Given the description of an element on the screen output the (x, y) to click on. 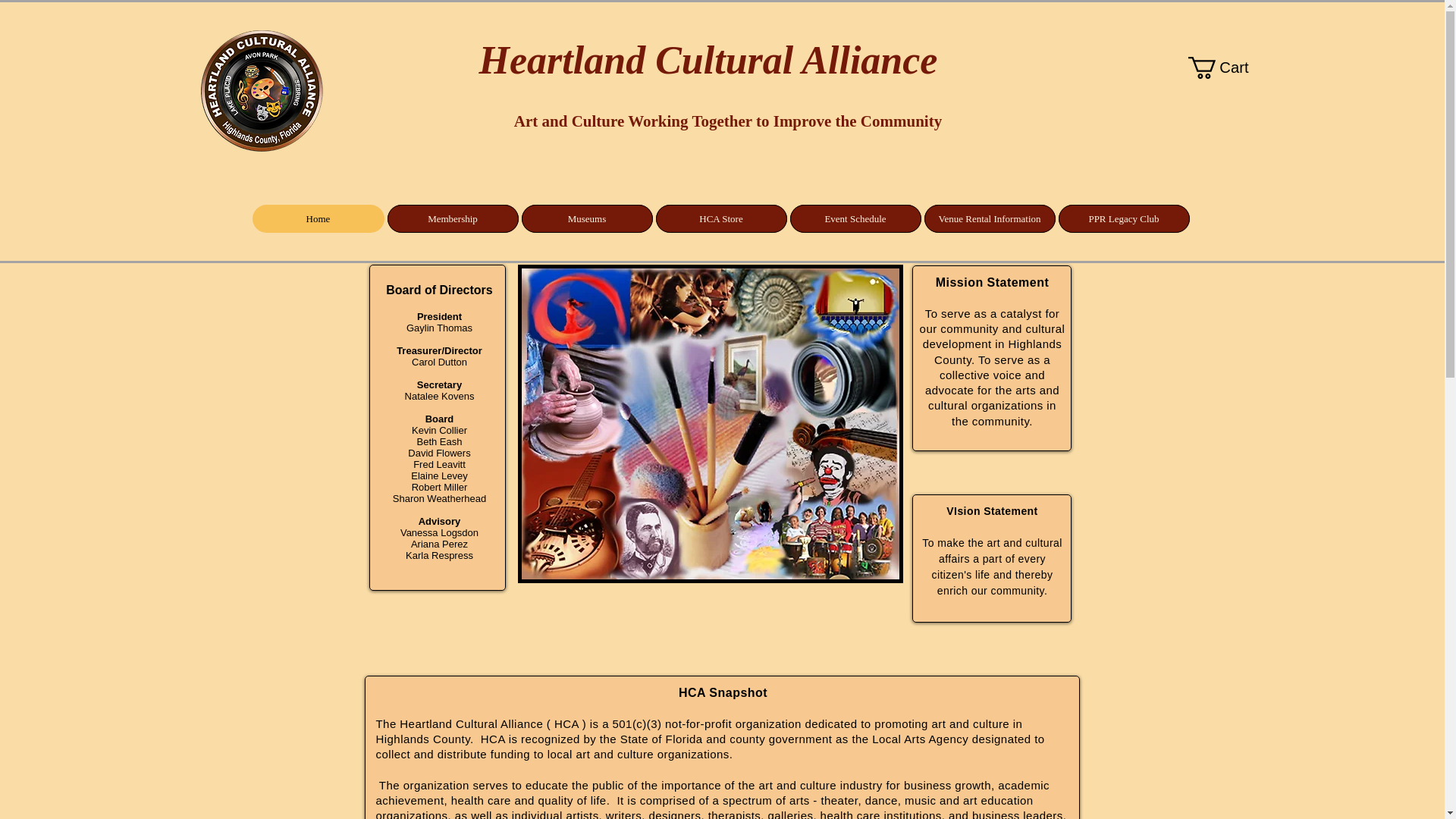
Home (317, 218)
PPR Legacy Club (1123, 218)
Museums (586, 218)
HCA Store (720, 218)
Event Schedule (855, 218)
Venue Rental Information (988, 218)
Cart (1229, 67)
Membership (452, 218)
Cart (1229, 67)
